Given the description of an element on the screen output the (x, y) to click on. 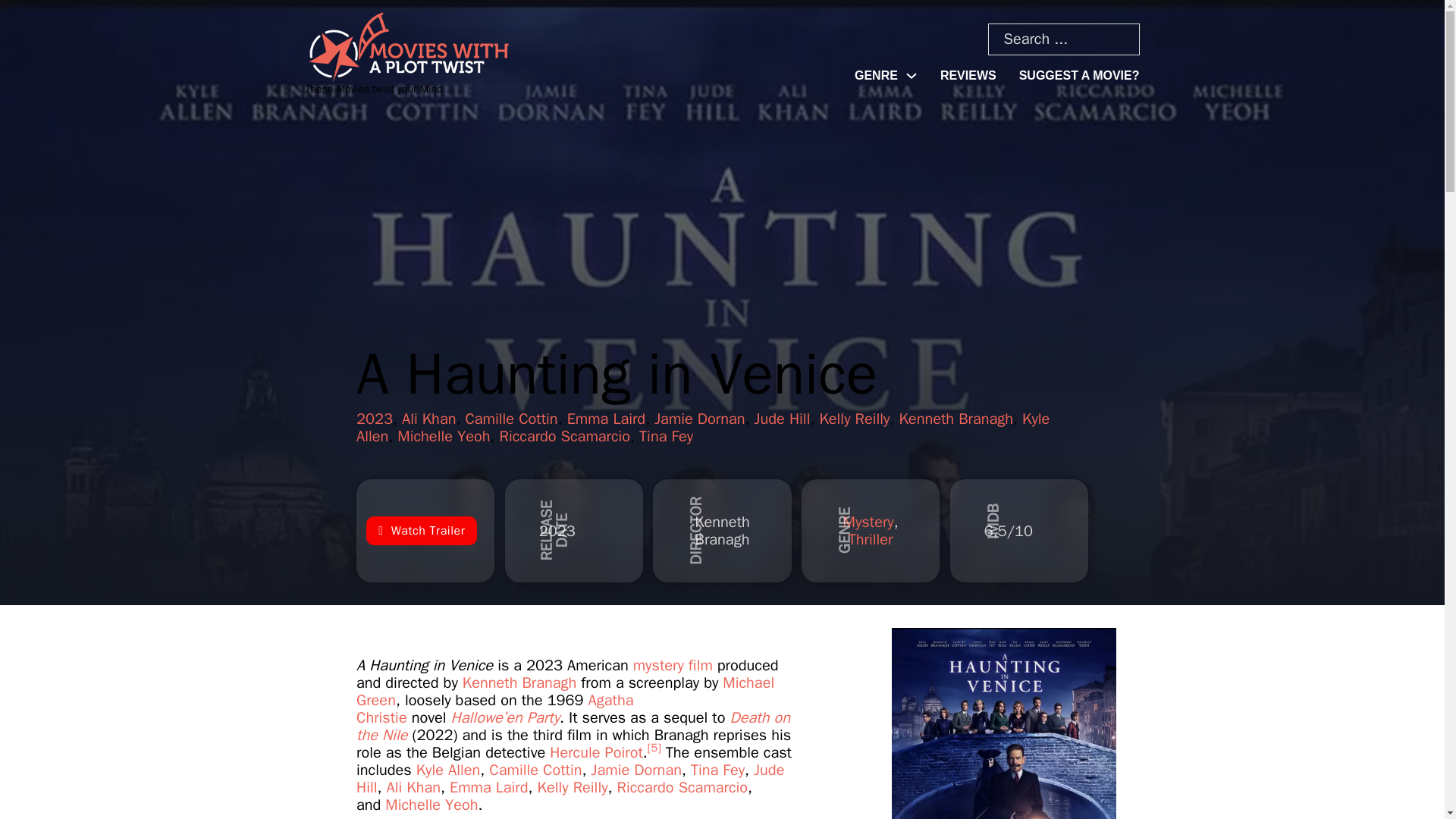
SUGGEST A MOVIE? (1079, 75)
Jamie Dornan (698, 418)
Camille Cottin (510, 418)
Kenneth Branagh (955, 418)
REVIEWS (967, 75)
Ali Khan (428, 418)
Jude Hill (782, 418)
Kelly Reilly (853, 418)
GENRE (876, 75)
Kyle Allen (702, 427)
